Given the description of an element on the screen output the (x, y) to click on. 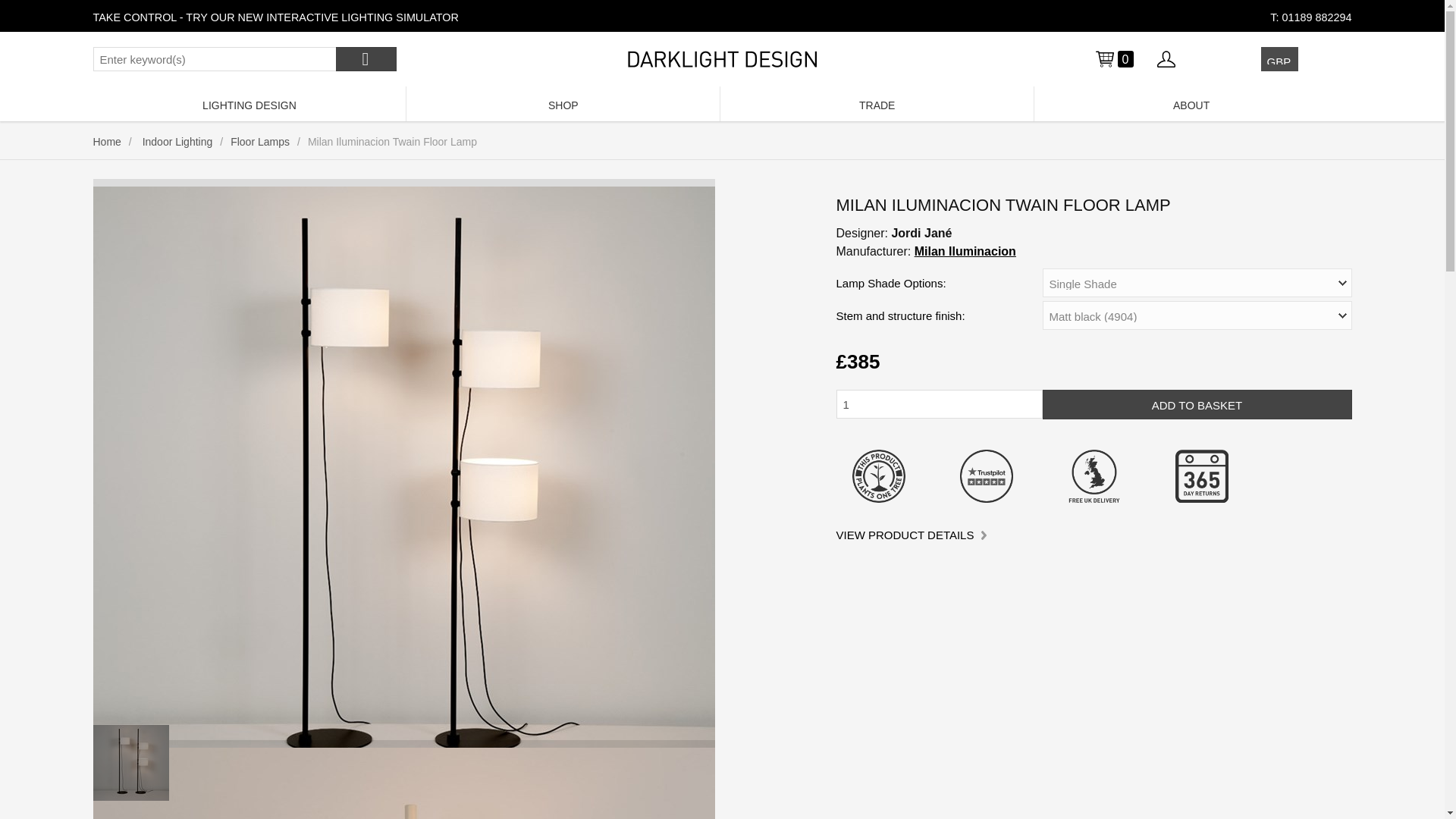
SHOP (563, 103)
1 (938, 403)
01189 882294 (1316, 17)
LIGHTING DESIGN (249, 103)
Add to basket (1196, 404)
0 (1113, 58)
TAKE CONTROL - TRY OUR NEW INTERACTIVE LIGHTING SIMULATOR (275, 17)
